Given the description of an element on the screen output the (x, y) to click on. 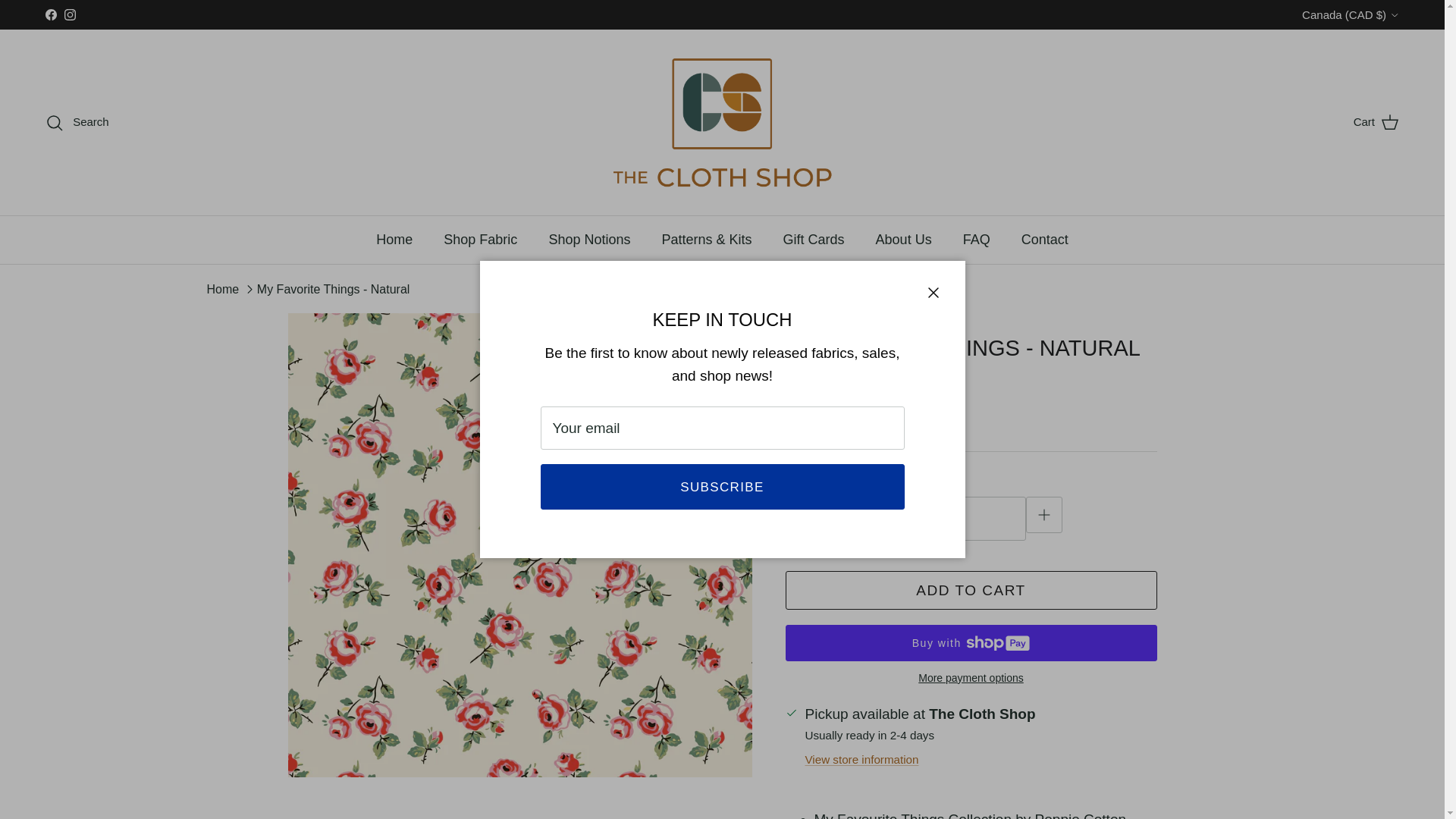
Search (77, 122)
Cart (1376, 122)
The Cloth Shop (721, 122)
Shop Fabric (480, 239)
The Cloth Shop on Facebook (50, 14)
0.5 (924, 517)
Facebook (50, 14)
Instagram (69, 14)
The Cloth Shop on Instagram (69, 14)
Home (394, 239)
